Given the description of an element on the screen output the (x, y) to click on. 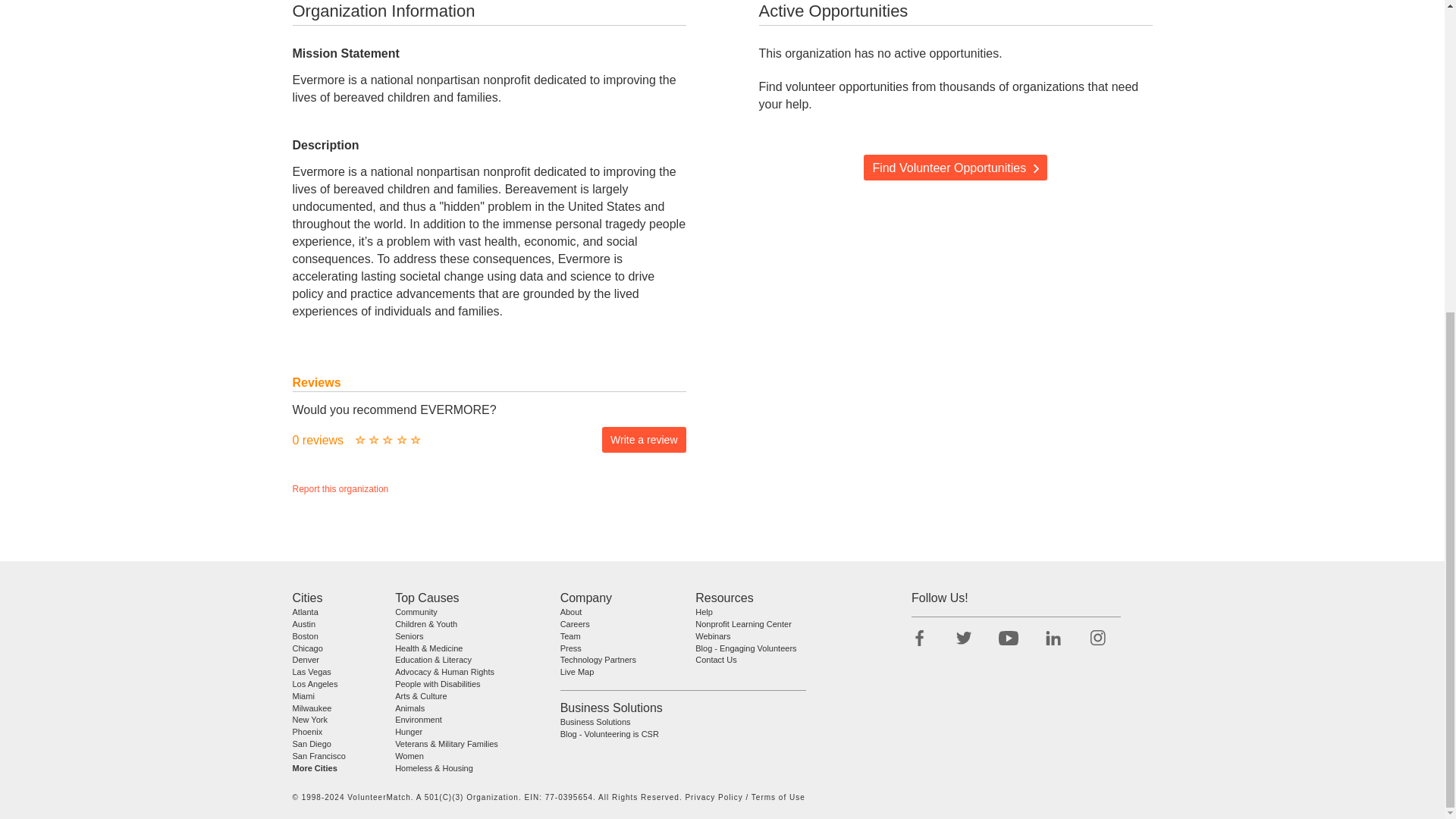
Find Volunteer Opportunities (954, 167)
Chicago (307, 646)
Las Vegas (311, 671)
Report this organization (340, 489)
Austin (303, 623)
Atlanta (305, 611)
Los Angeles (314, 683)
Denver (305, 659)
Boston (305, 634)
Write a review (643, 439)
